Given the description of an element on the screen output the (x, y) to click on. 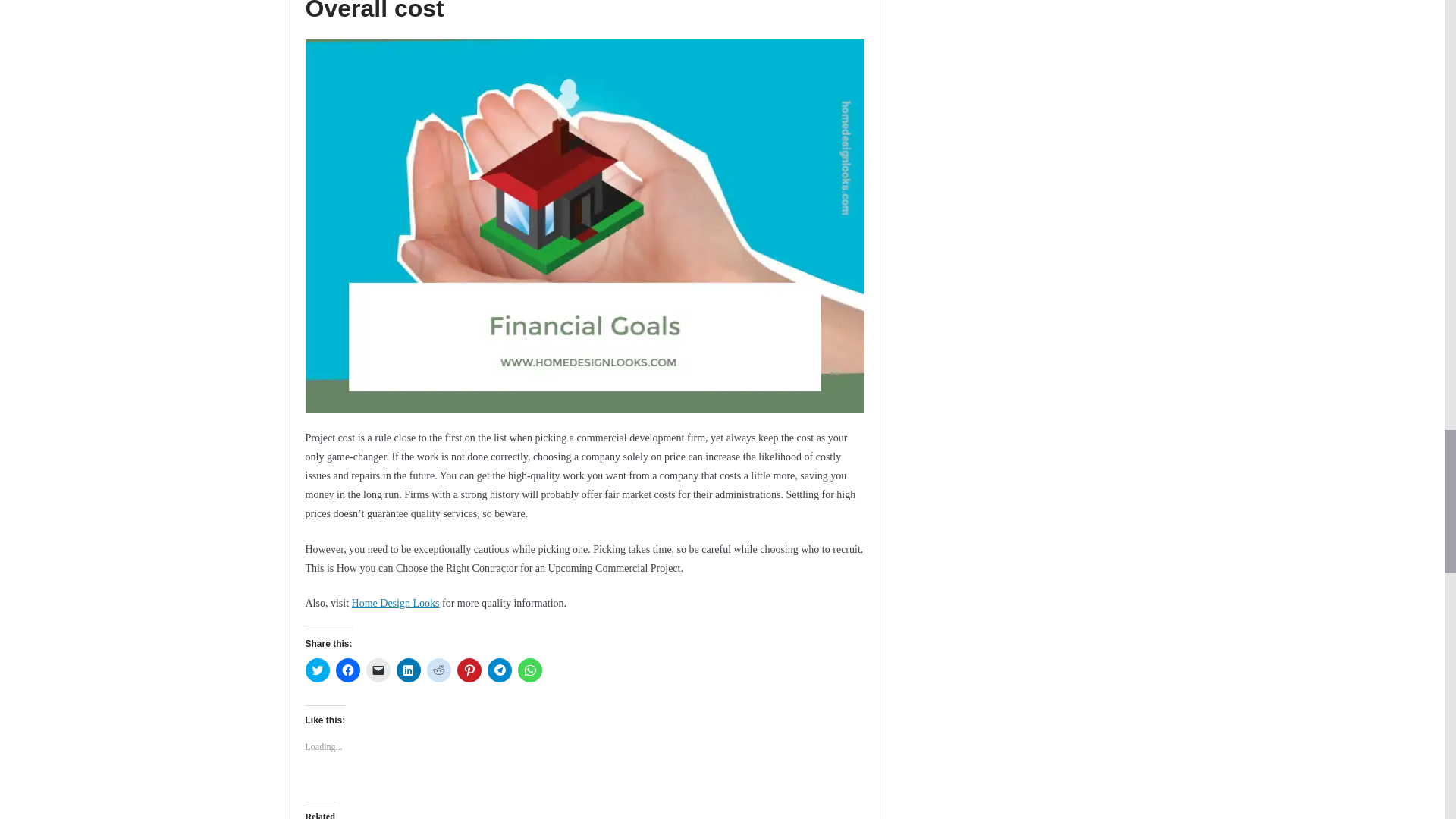
Click to share on Twitter (316, 670)
Click to email a link to a friend (377, 670)
Click to share on LinkedIn (408, 670)
Click to share on Facebook (346, 670)
Home Design Looks (395, 603)
